Given the description of an element on the screen output the (x, y) to click on. 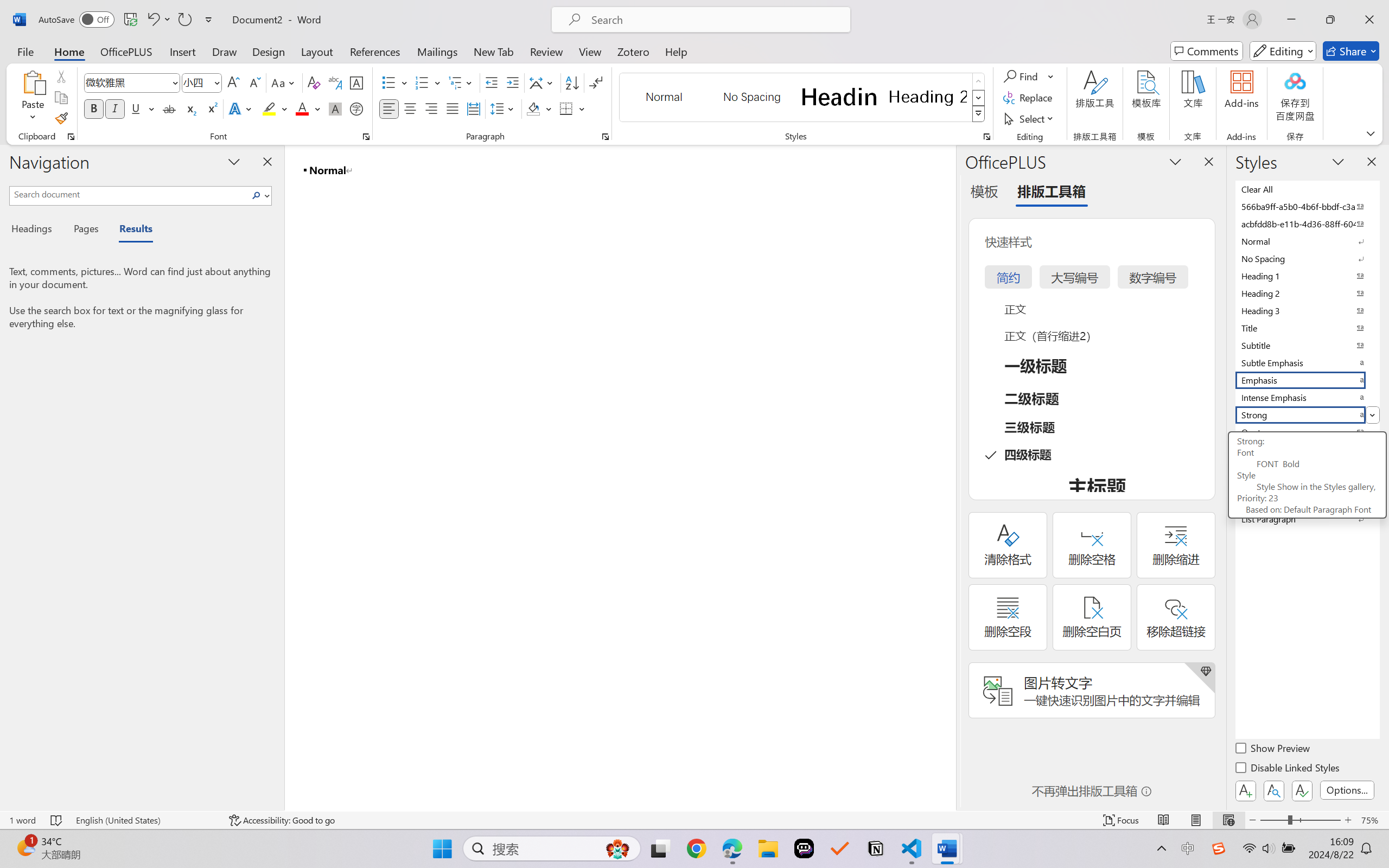
Intense Quote (1306, 449)
AutoSave (76, 19)
Decrease Indent (491, 82)
Text Highlight Color (274, 108)
Distributed (473, 108)
Help (675, 51)
Zotero (632, 51)
Shrink Font (253, 82)
Web Layout (1228, 819)
Open (215, 82)
Line and Paragraph Spacing (503, 108)
